Given the description of an element on the screen output the (x, y) to click on. 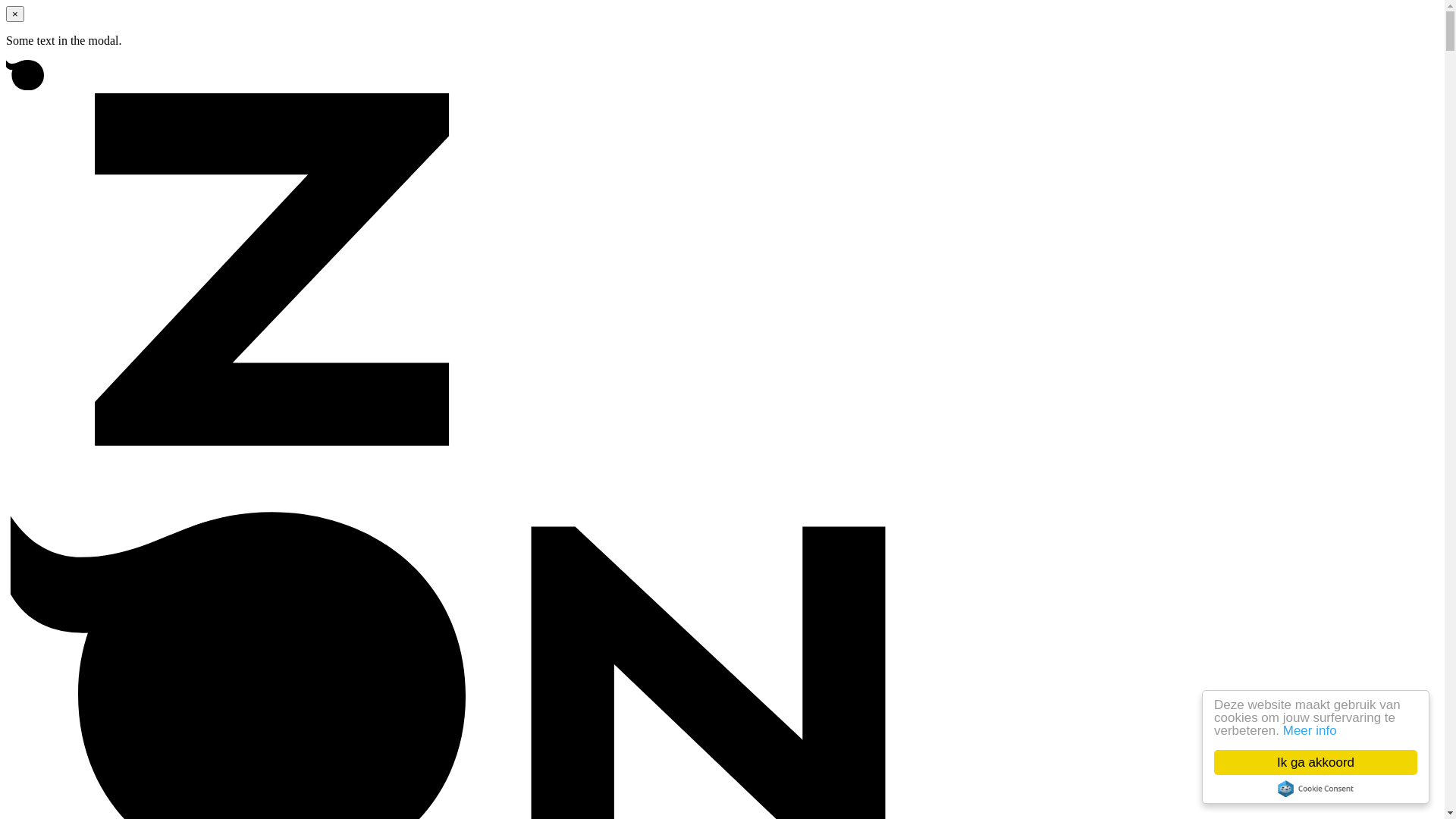
Meer info Element type: text (1309, 730)
Ik ga akkoord Element type: text (1315, 762)
Cookie Consent plugin for the EU cookie law Element type: text (1315, 788)
